Given the description of an element on the screen output the (x, y) to click on. 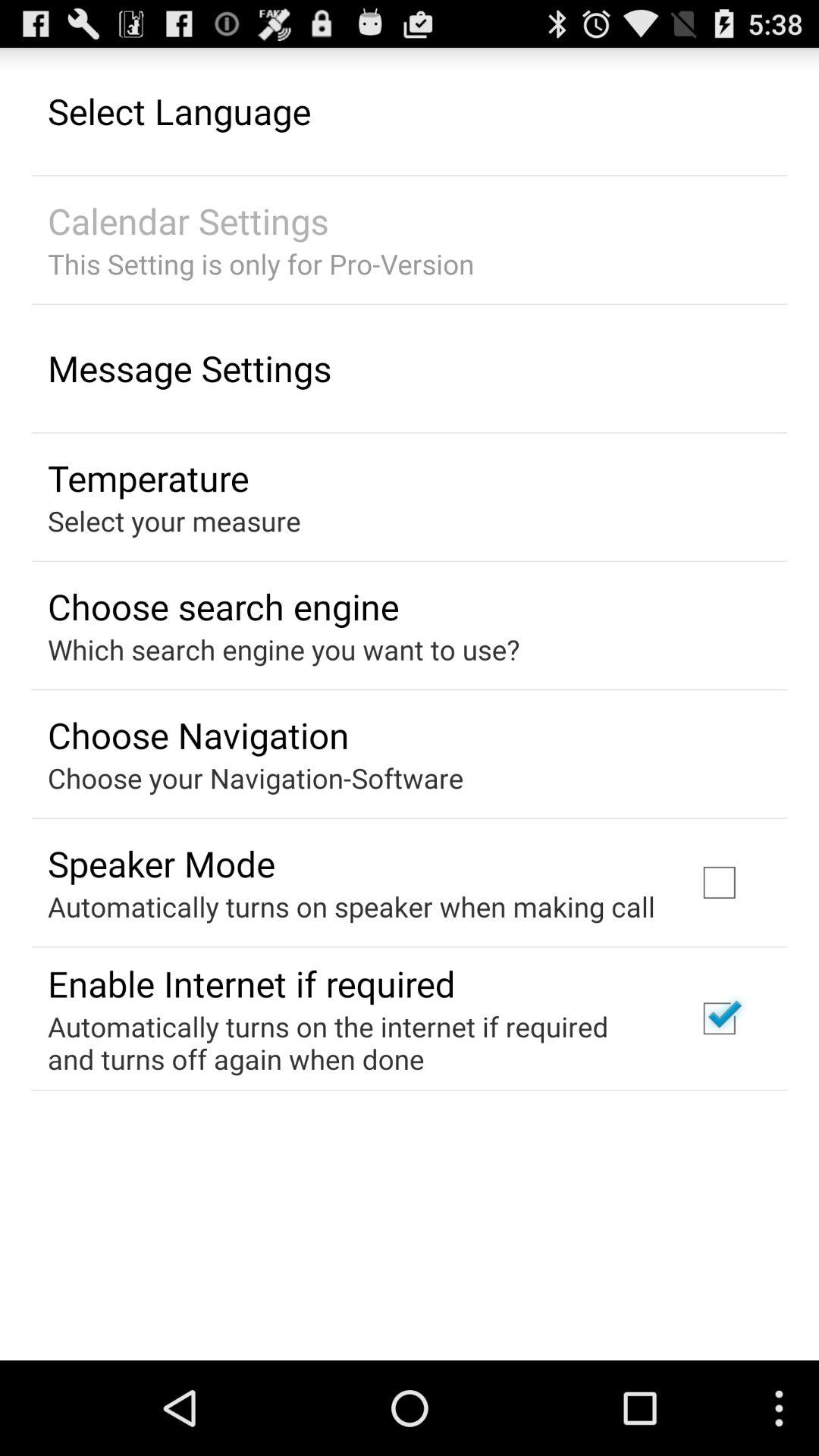
launch the temperature item (148, 477)
